Given the description of an element on the screen output the (x, y) to click on. 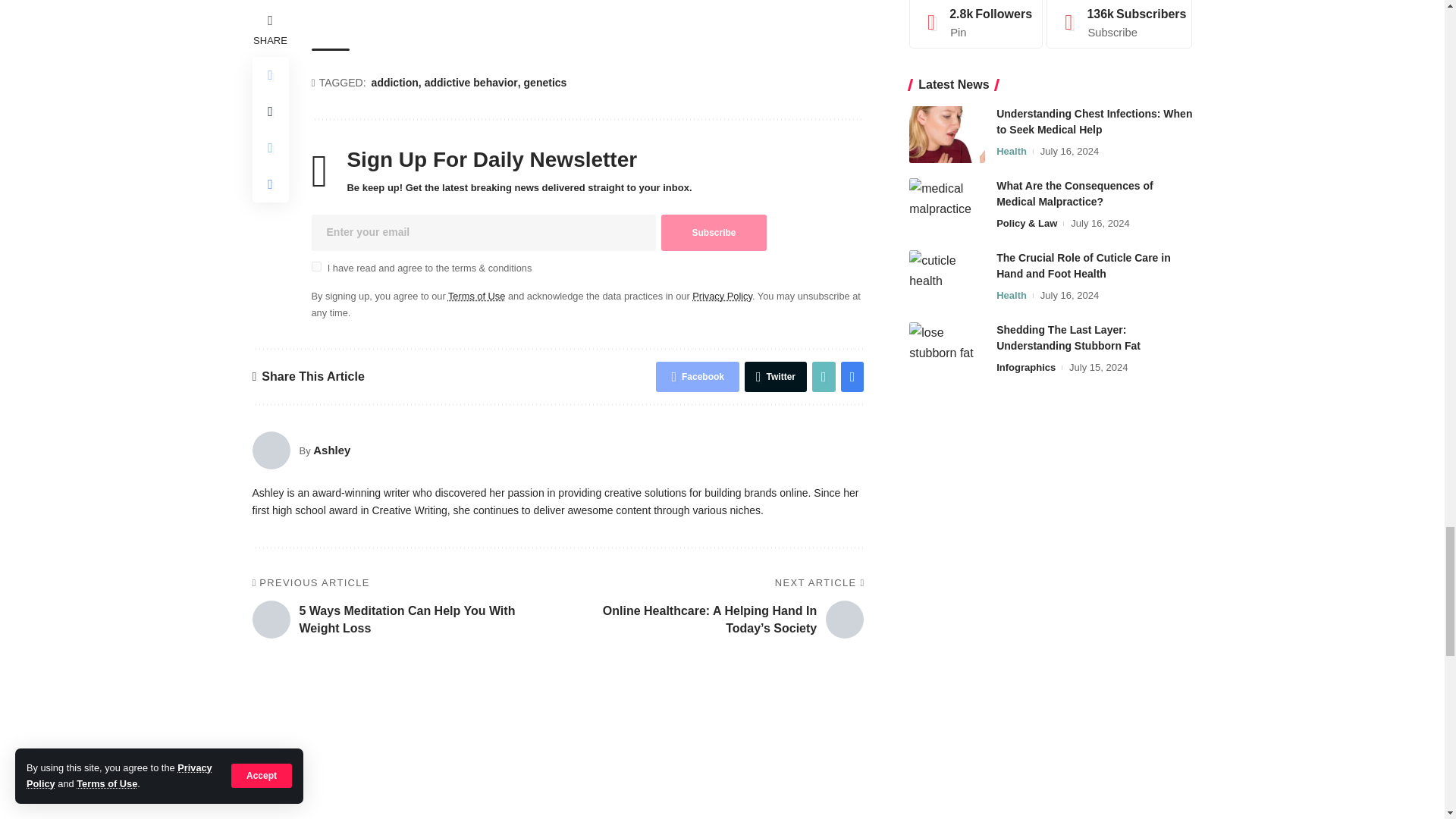
1 (315, 266)
Subscribe (713, 232)
